Given the description of an element on the screen output the (x, y) to click on. 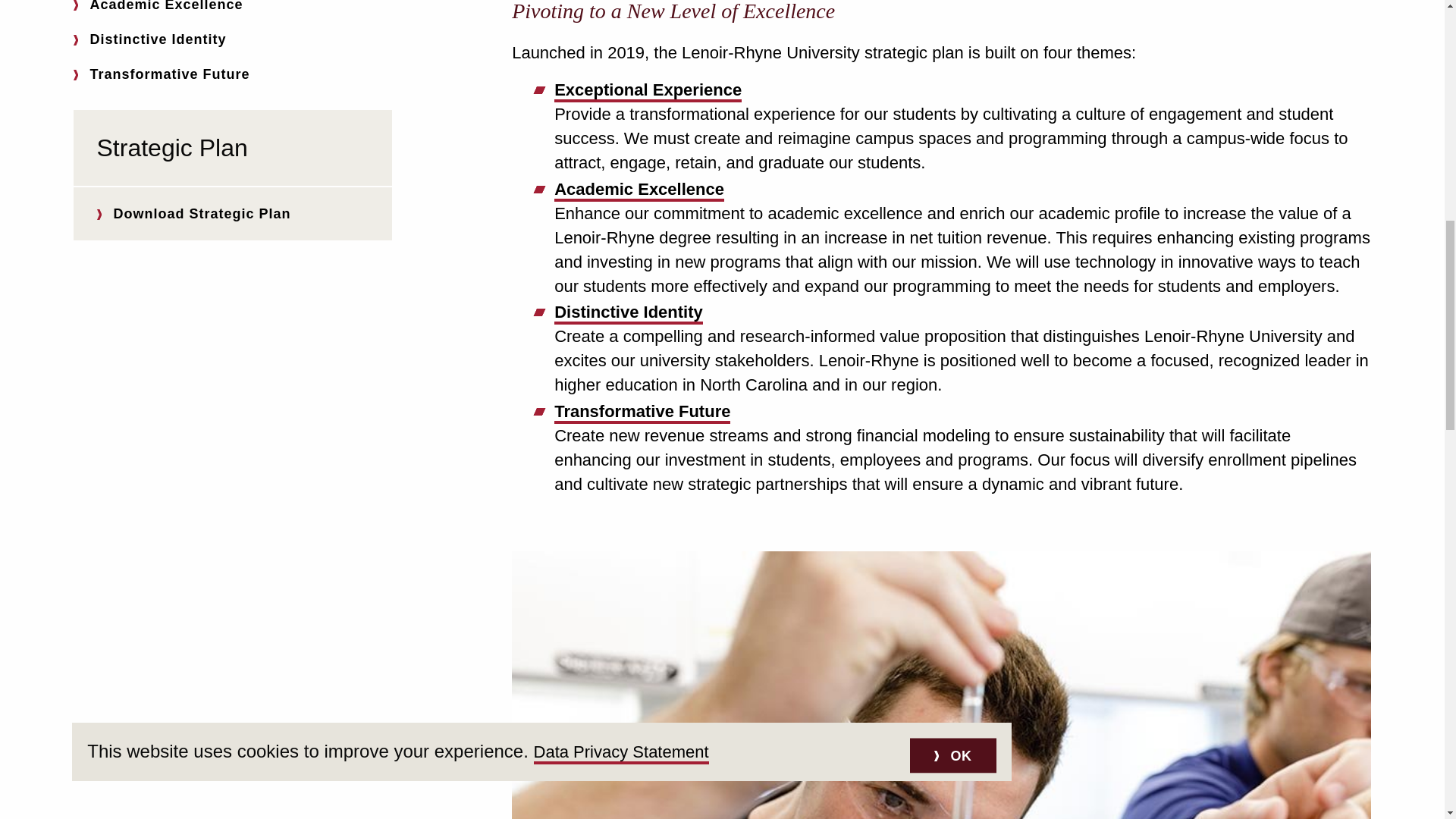
Transformative Future (642, 411)
Distinctive Identity (628, 312)
Exceptional Experience (647, 89)
Academic Excellence (638, 189)
